Given the description of an element on the screen output the (x, y) to click on. 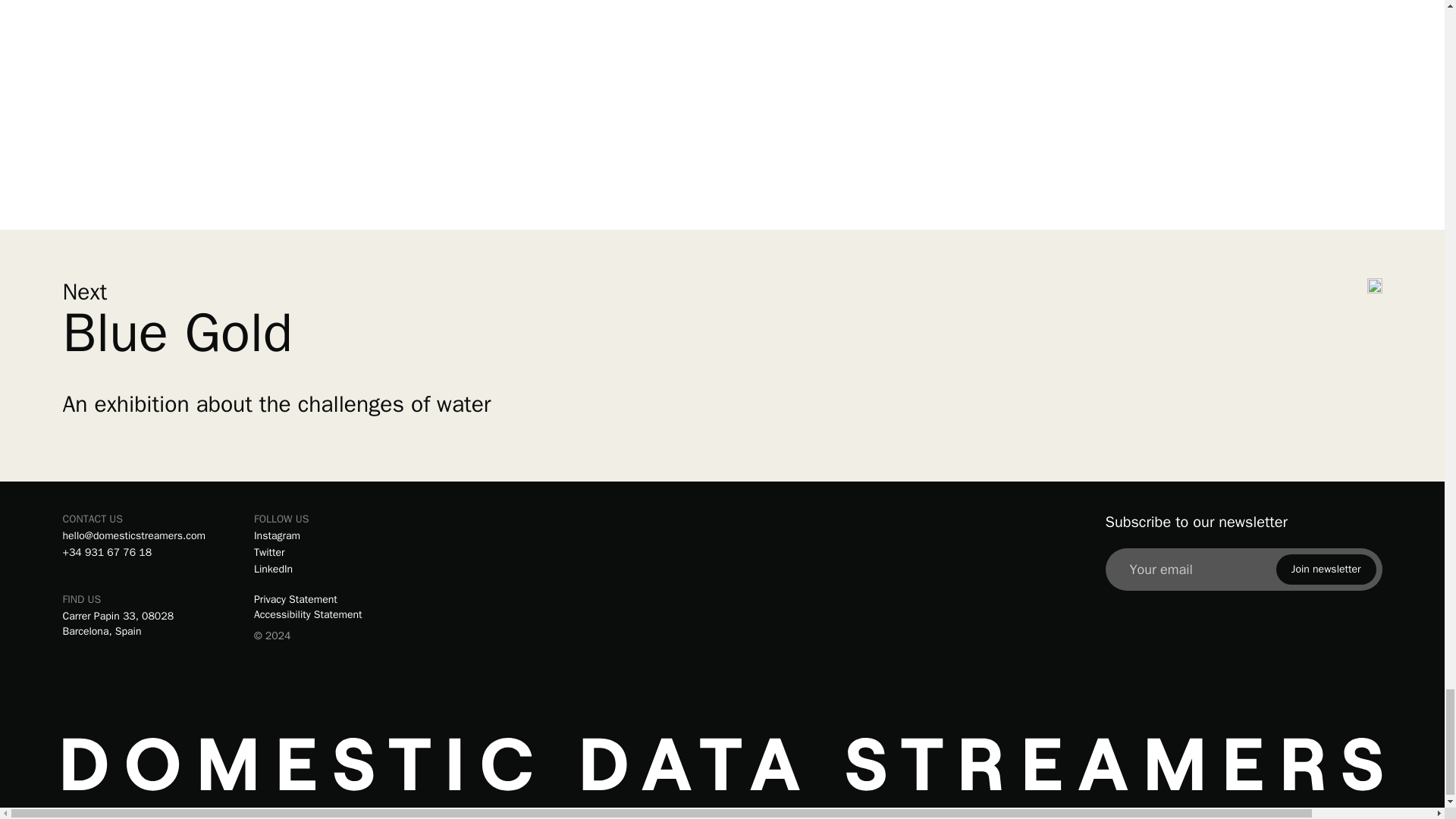
Privacy Statement (324, 599)
LinkedIn (272, 568)
Twitter (269, 552)
Join newsletter (1325, 569)
Instagram (276, 535)
Blue Gold (276, 332)
Accessibility Statement (324, 614)
Carrer Papin 33, 08028 Barcelona, Spain (125, 624)
